Given the description of an element on the screen output the (x, y) to click on. 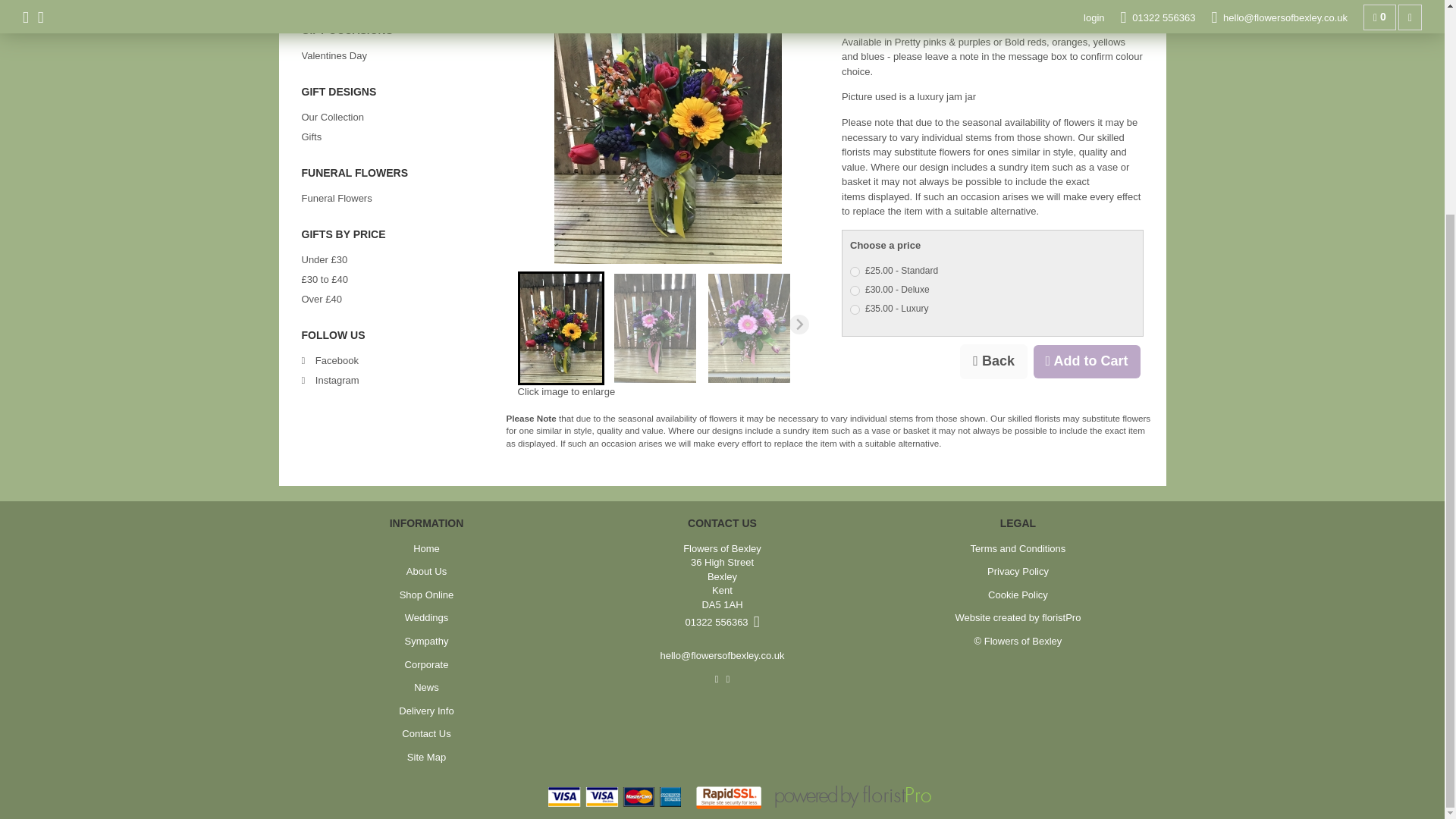
35.00 (855, 309)
30.00 (855, 290)
25.00 (855, 271)
